Given the description of an element on the screen output the (x, y) to click on. 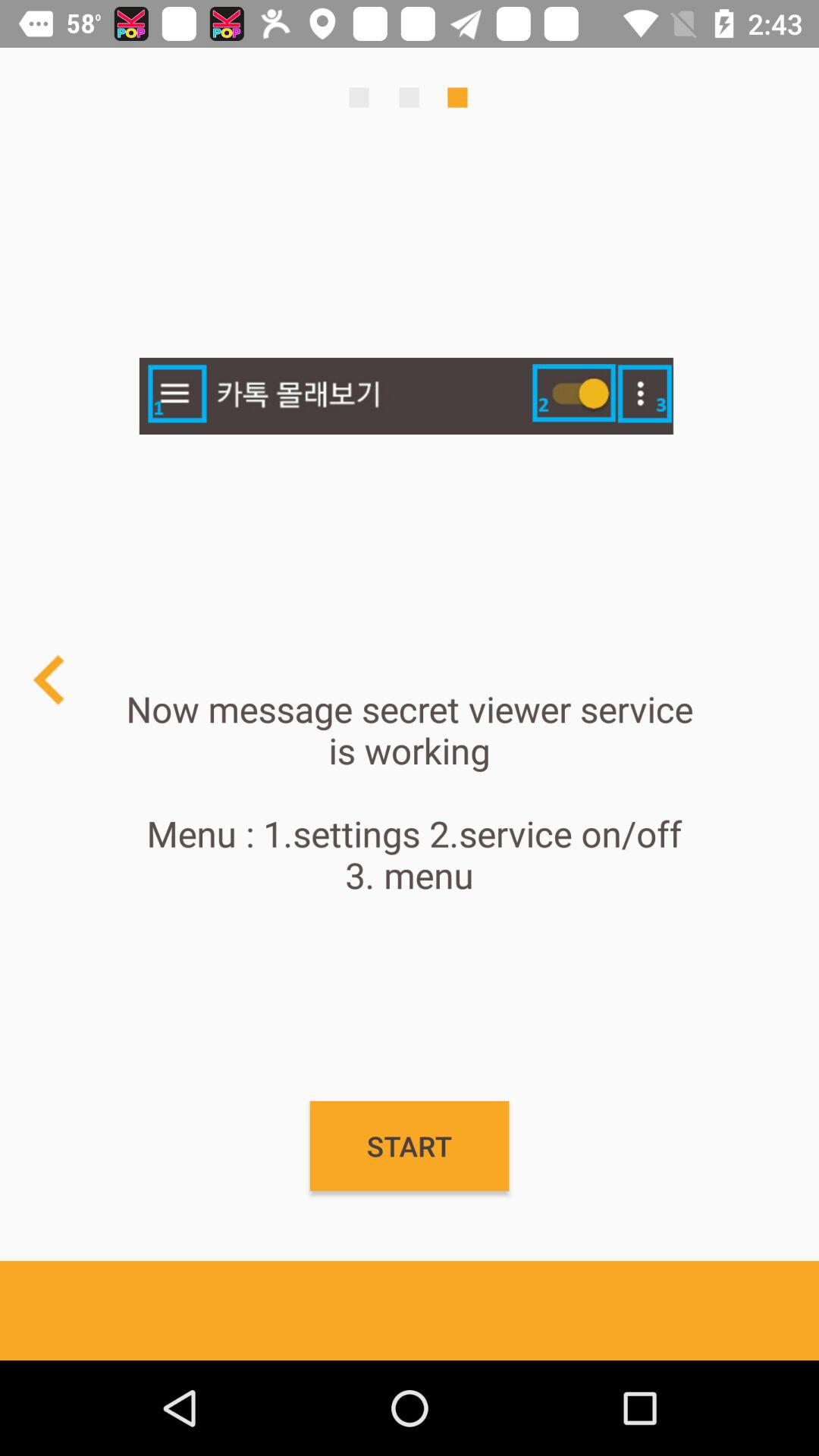
go back (49, 679)
